Given the description of an element on the screen output the (x, y) to click on. 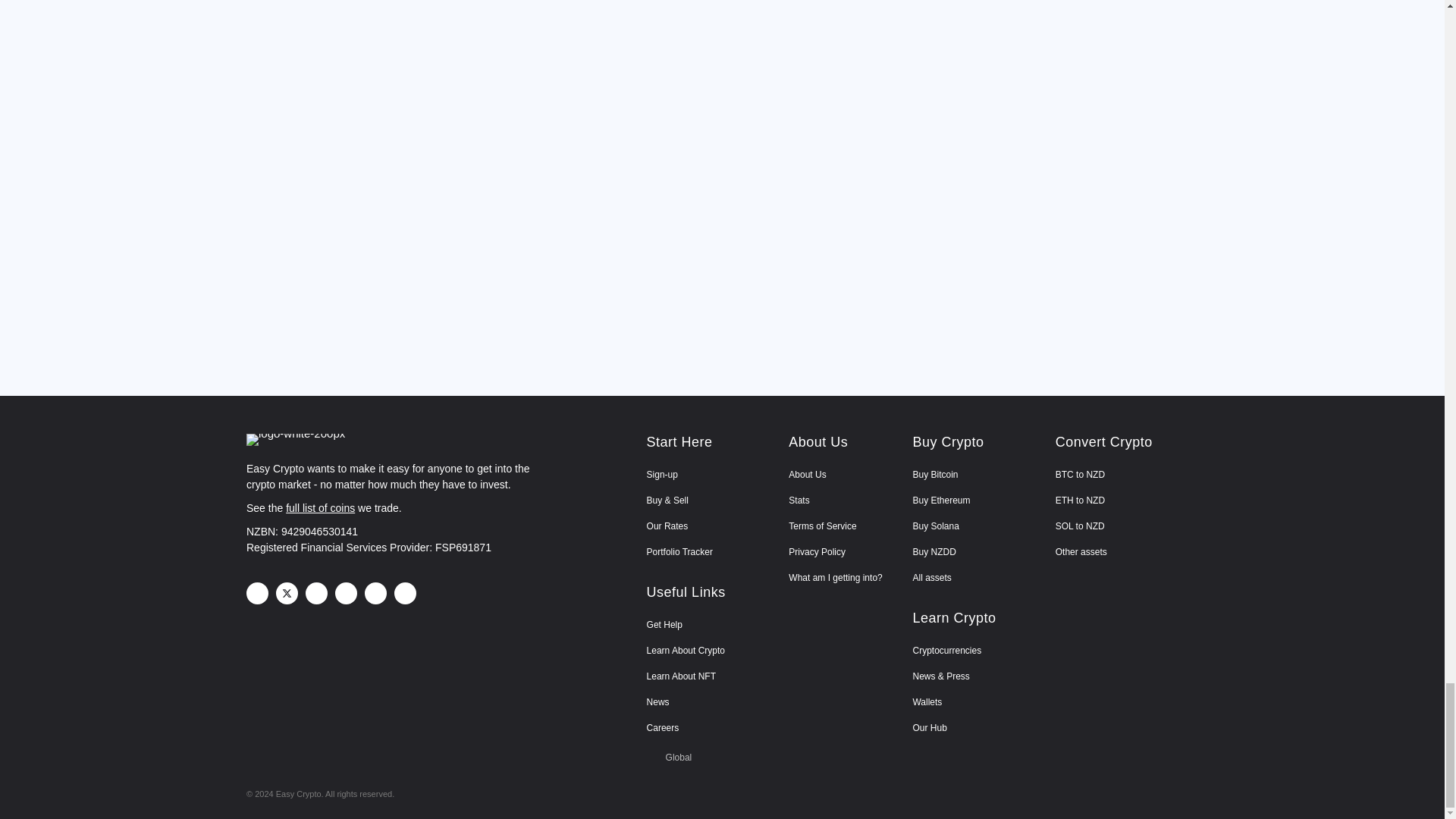
Instagram (316, 593)
logo-white-200px (295, 439)
YouTube (376, 593)
TikTok (405, 593)
LinkedIn (345, 593)
